Given the description of an element on the screen output the (x, y) to click on. 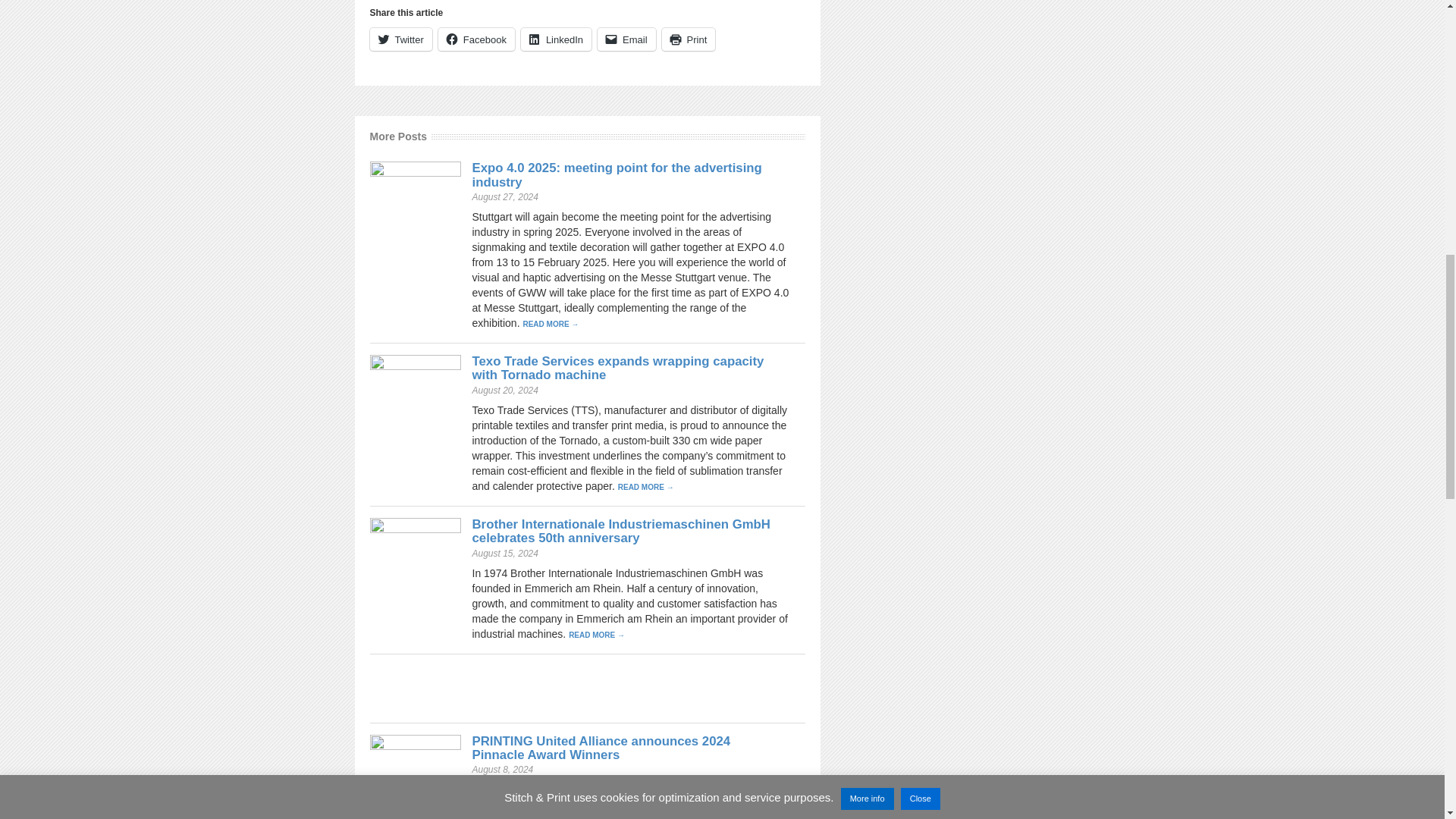
LinkedIn (556, 38)
Twitter (400, 38)
Click to print (689, 38)
Click to email a link to a friend (626, 38)
Print (689, 38)
Click to share on Twitter (400, 38)
Click to share on Facebook (476, 38)
Facebook (476, 38)
Email (626, 38)
Click to share on LinkedIn (556, 38)
